Given the description of an element on the screen output the (x, y) to click on. 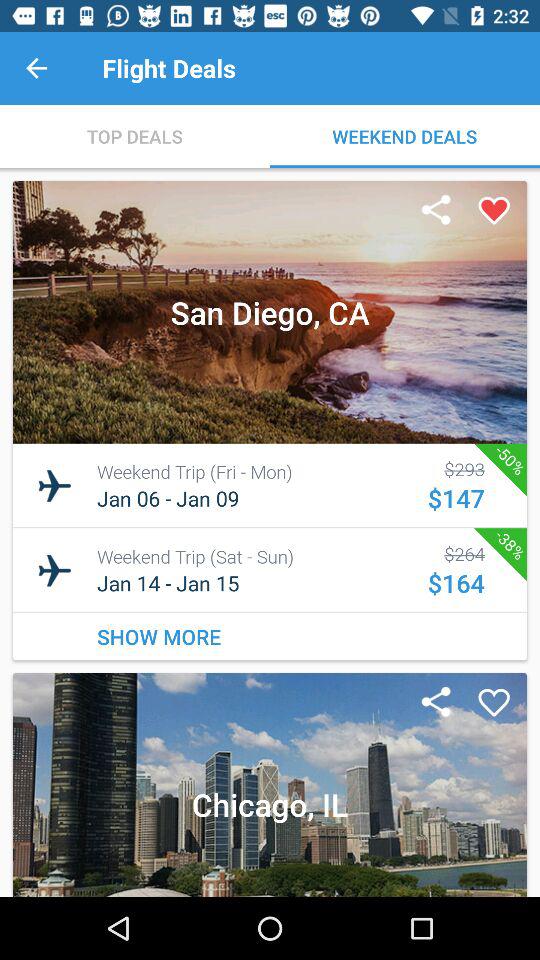
share flight deal (435, 211)
